Given the description of an element on the screen output the (x, y) to click on. 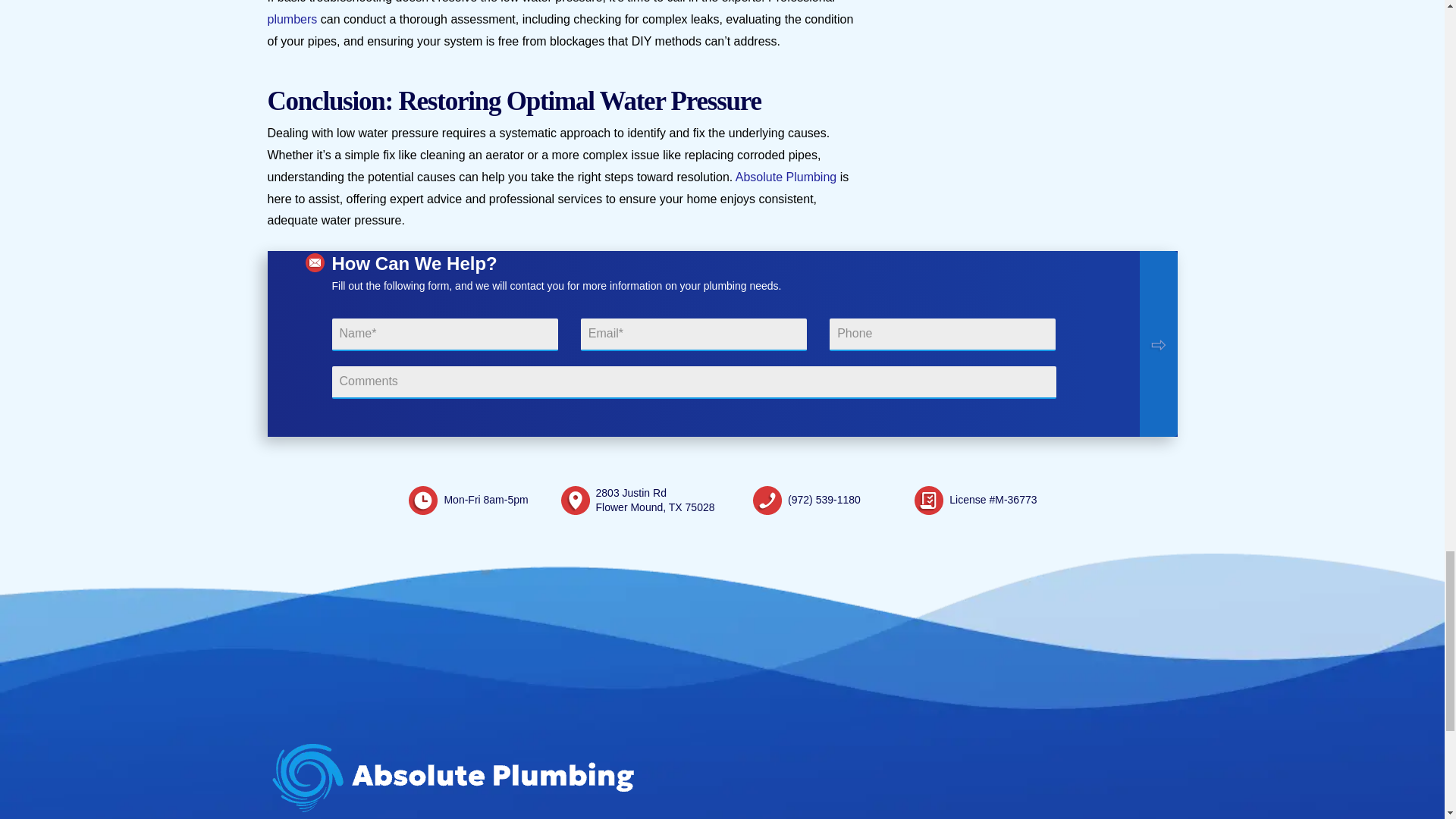
plumbers (291, 19)
Absolute Plumbing (785, 176)
